Given the description of an element on the screen output the (x, y) to click on. 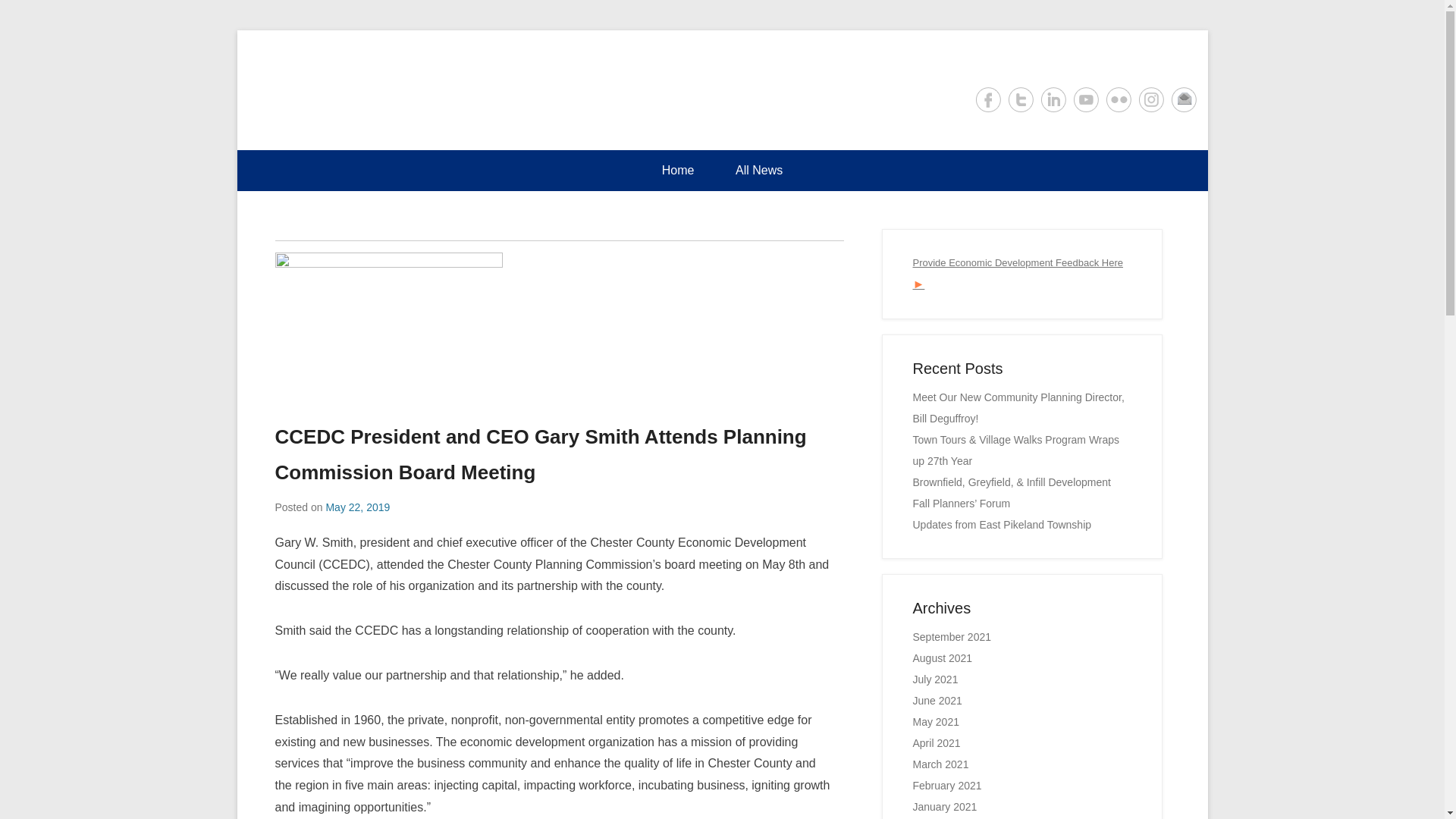
April 2021 (936, 743)
Facebook (987, 99)
Twitter (1021, 99)
September 2021 (951, 636)
YouTube (1086, 99)
Chesco Planning News (425, 89)
Chesco Planning News (425, 89)
LinkedIn (1053, 99)
All News (759, 169)
Flickr (1118, 99)
